Given the description of an element on the screen output the (x, y) to click on. 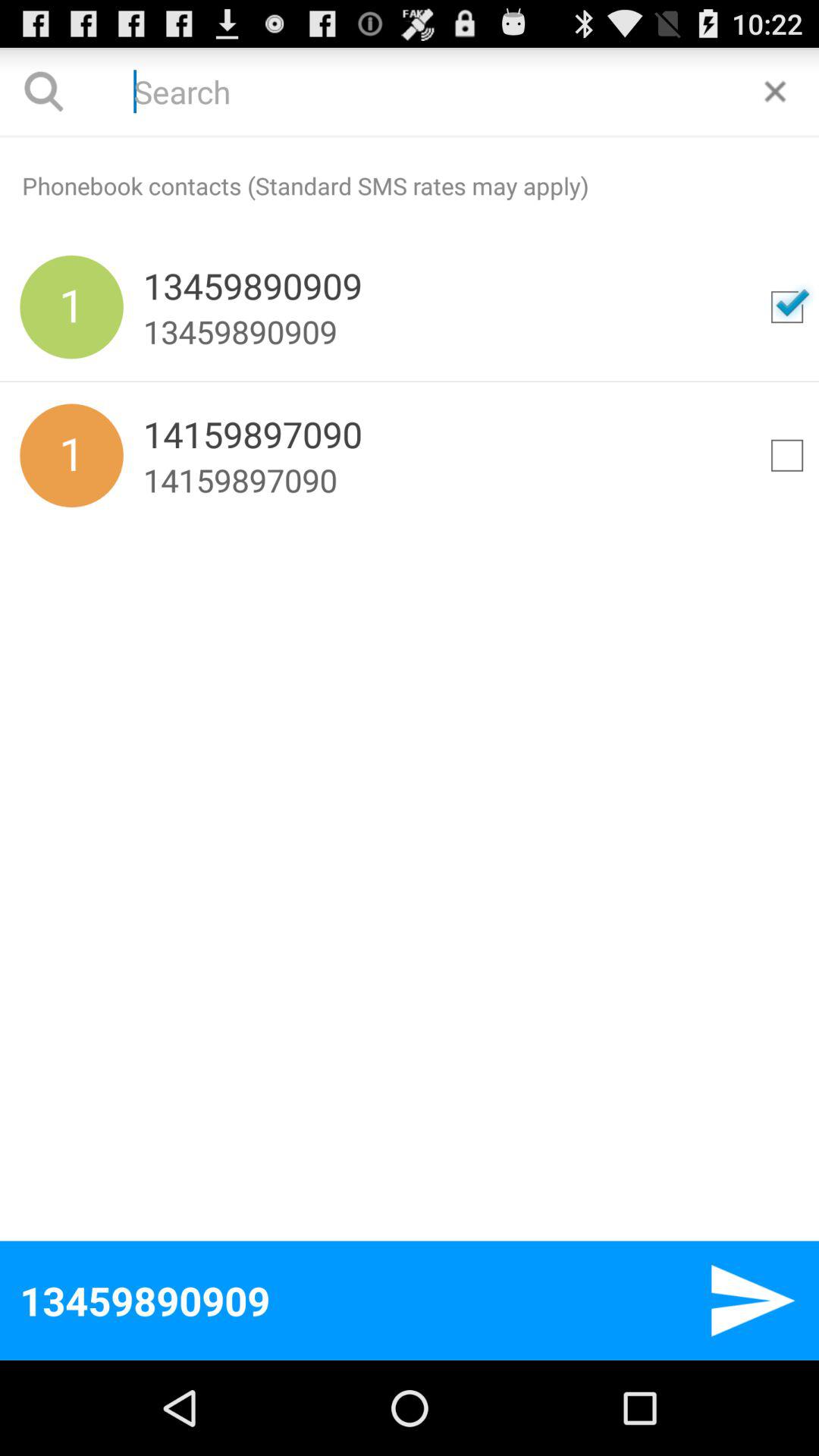
search for (787, 306)
